Given the description of an element on the screen output the (x, y) to click on. 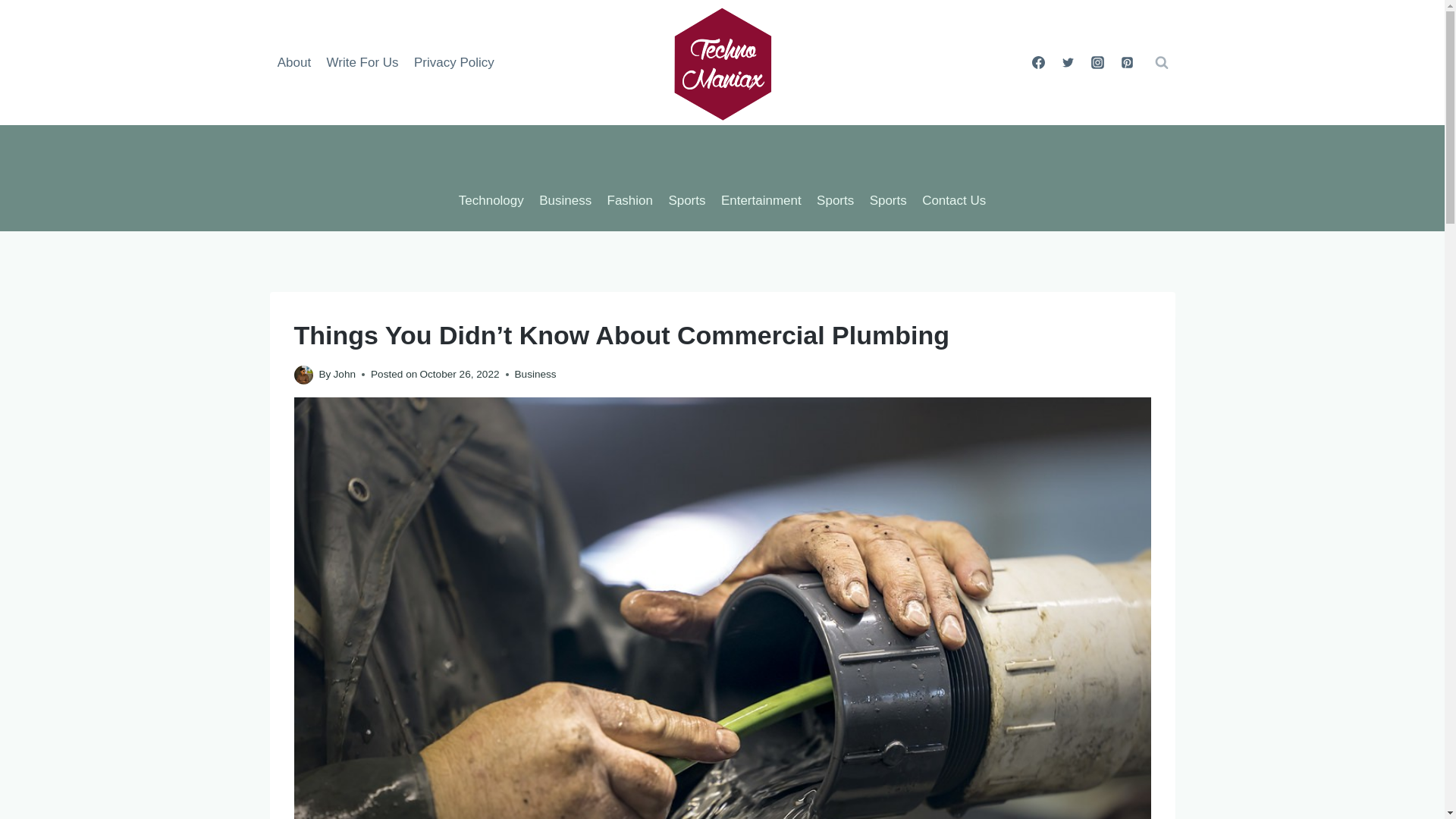
Entertainment (761, 200)
About (293, 63)
Technology (491, 200)
Fashion (629, 200)
Sports (887, 200)
Business (564, 200)
Contact Us (953, 200)
Business (534, 374)
Sports (835, 200)
Sports (687, 200)
Write For Us (362, 63)
Privacy Policy (454, 63)
